Given the description of an element on the screen output the (x, y) to click on. 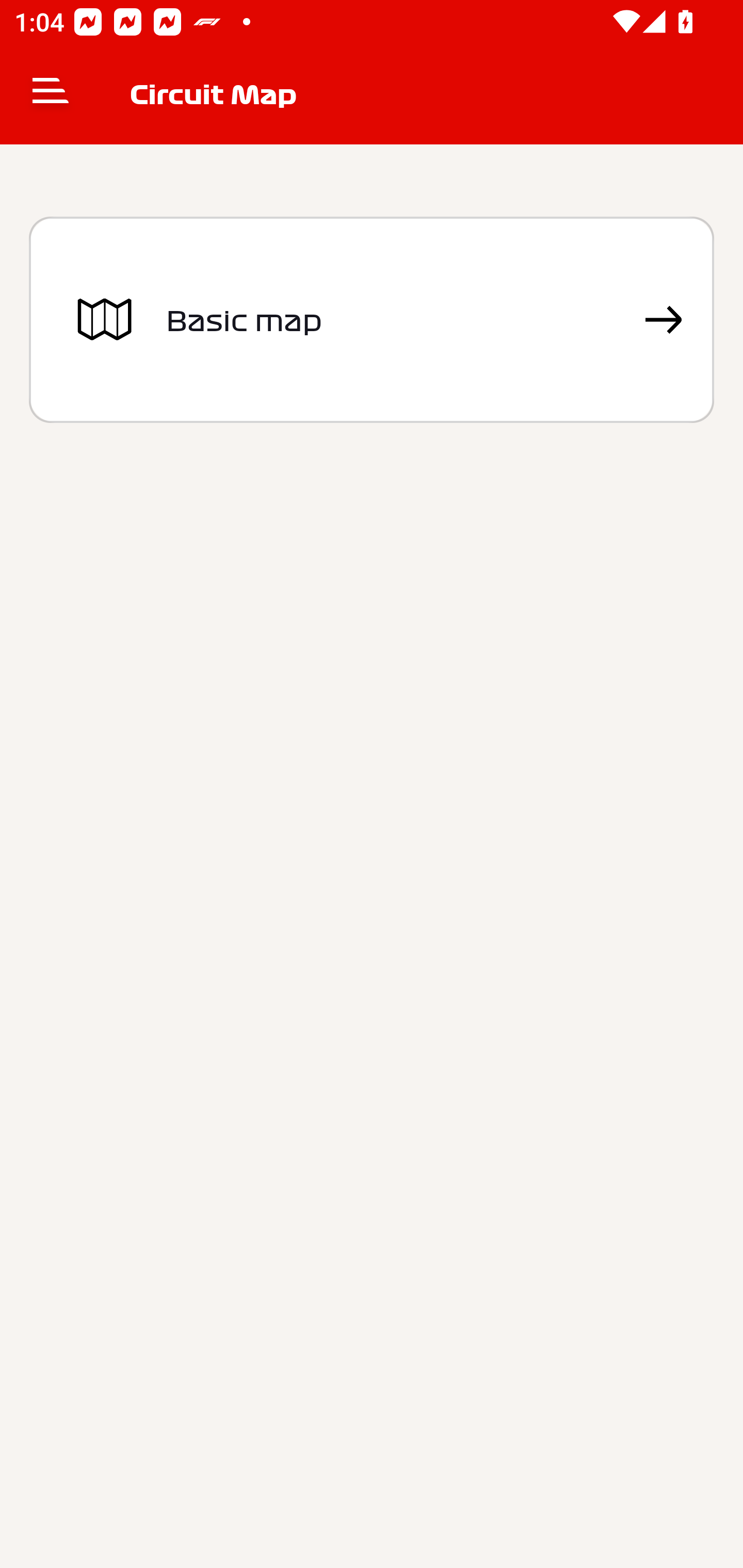
Navigate up (50, 93)
Basic map (371, 319)
